Given the description of an element on the screen output the (x, y) to click on. 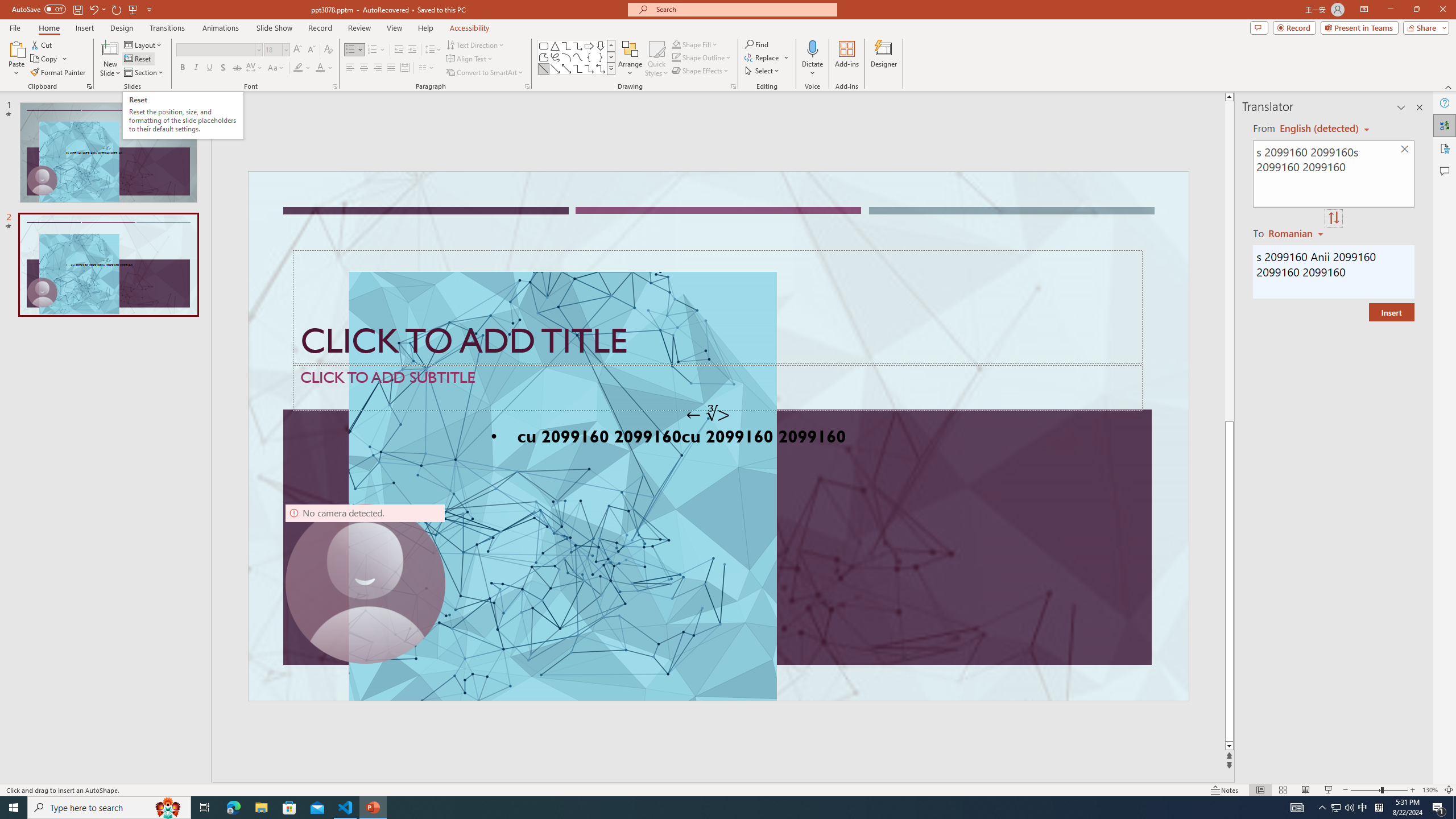
Class: ScrollBarViews (438, 379)
Google Chrome (729, 800)
